Given the description of an element on the screen output the (x, y) to click on. 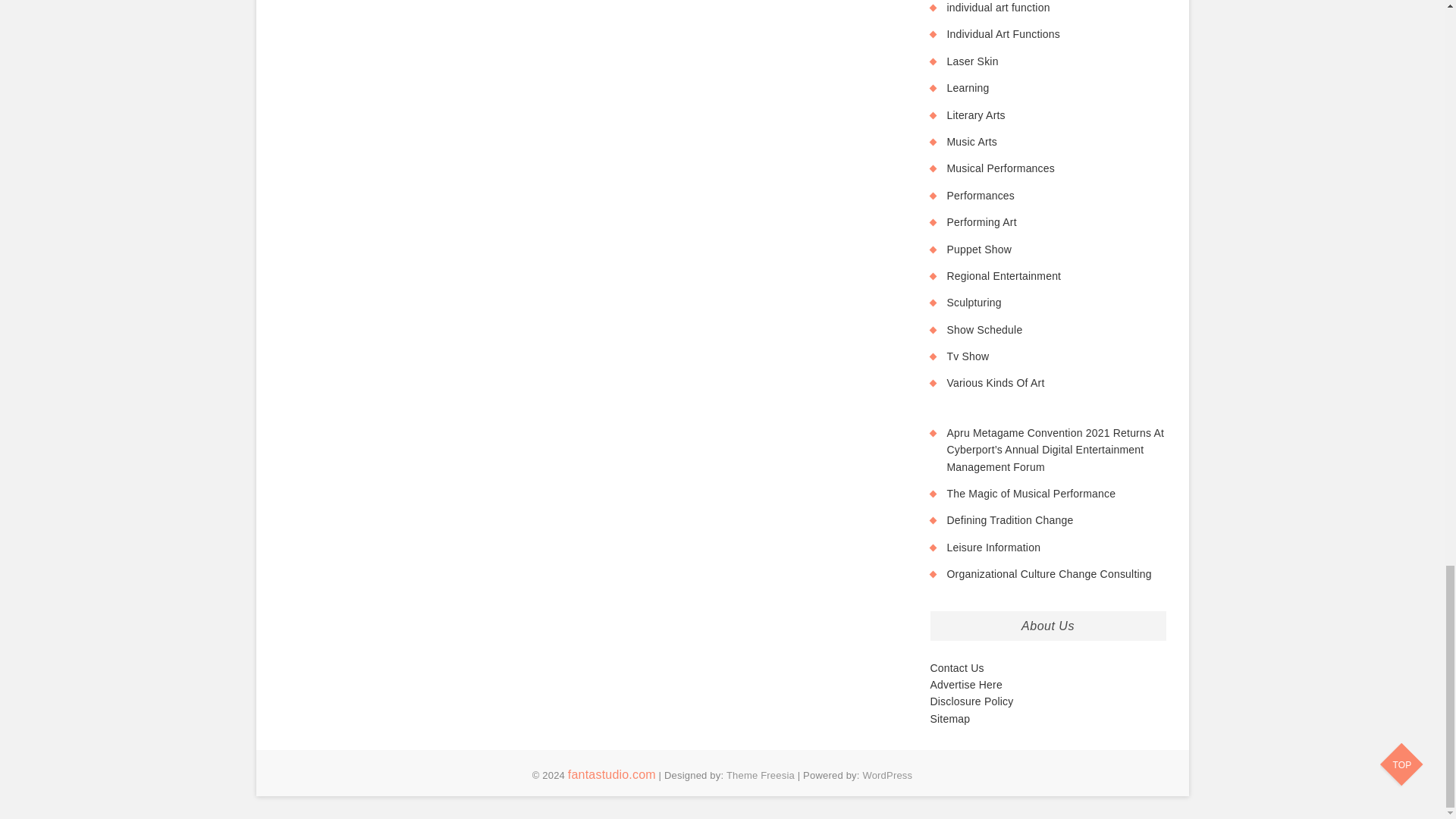
WordPress (886, 775)
Theme Freesia (760, 775)
fantastudio.com (611, 774)
